Given the description of an element on the screen output the (x, y) to click on. 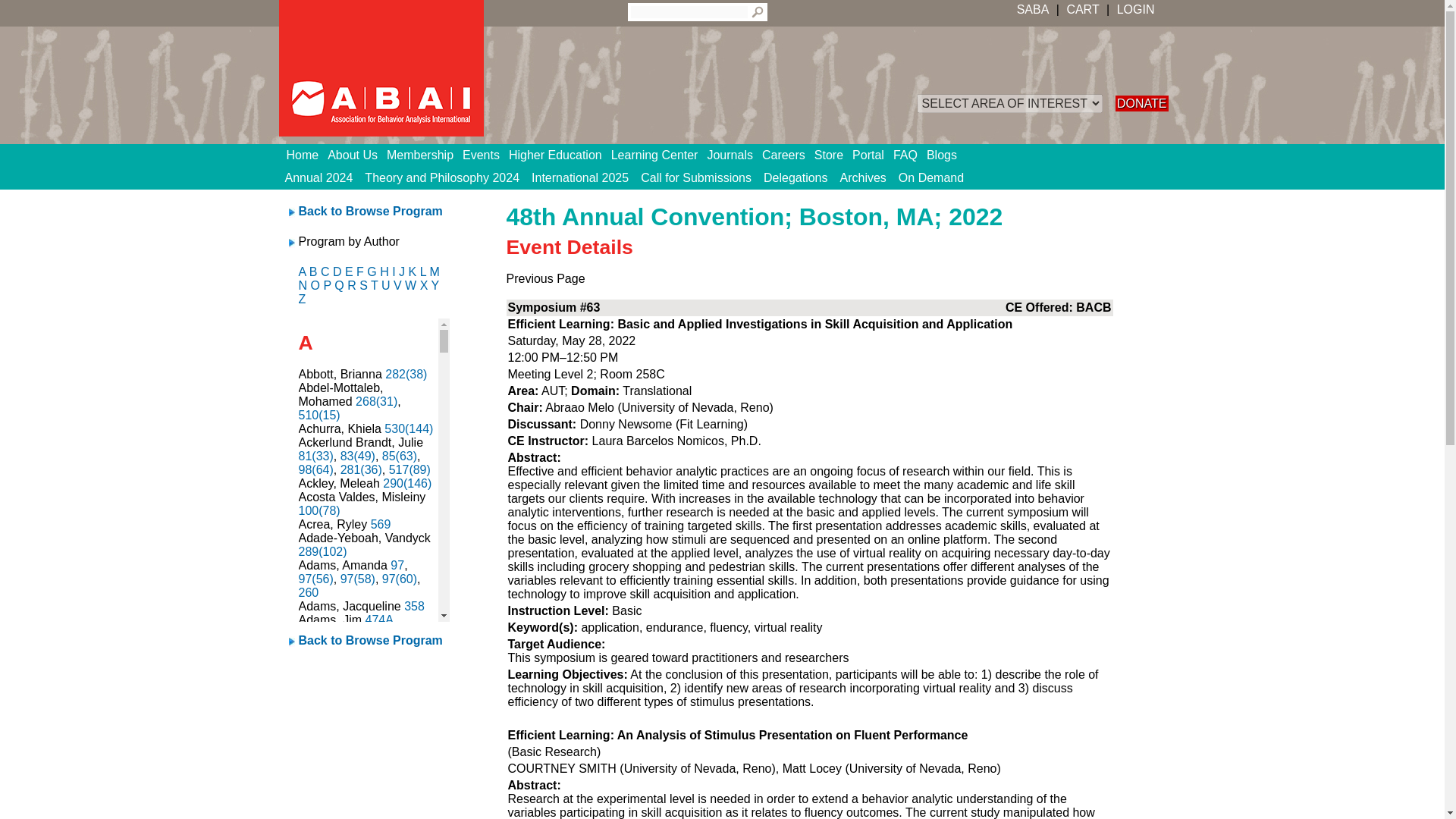
Higher Education (559, 155)
International 2025 (579, 178)
Previous Page (545, 278)
Delegations (795, 178)
Store (832, 155)
Back to Browse Program (370, 210)
CART (1082, 9)
Back to search (370, 210)
Portal (872, 155)
Call for Submissions (695, 178)
Learning Center (659, 155)
Blogs (946, 155)
Archives (863, 178)
Membership (425, 155)
Annual 2024 (319, 178)
